Given the description of an element on the screen output the (x, y) to click on. 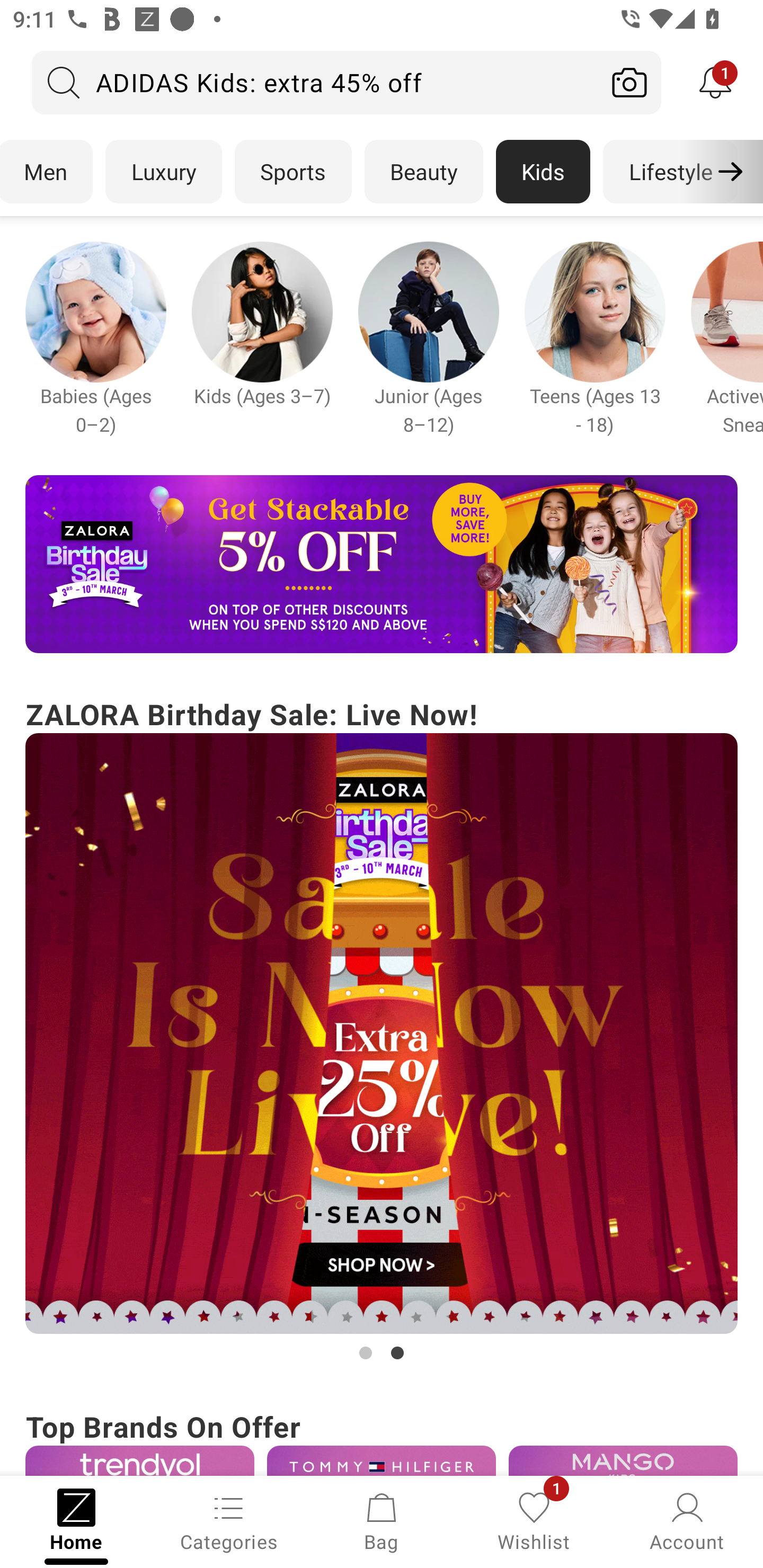
ADIDAS Kids: extra 45% off (314, 82)
Men (46, 171)
Luxury (163, 171)
Sports (293, 171)
Beauty (423, 171)
Kids (542, 171)
Lifestyle (669, 171)
Campaign banner (95, 311)
Campaign banner (261, 311)
Campaign banner (428, 311)
Campaign banner (594, 311)
Campaign banner (381, 564)
ZALORA Birthday Sale: Live Now! Campaign banner (381, 1028)
Campaign banner (381, 1033)
Campaign banner (139, 1460)
Campaign banner (381, 1460)
Campaign banner (622, 1460)
Categories (228, 1519)
Bag (381, 1519)
Wishlist, 1 new notification Wishlist (533, 1519)
Account (686, 1519)
